Given the description of an element on the screen output the (x, y) to click on. 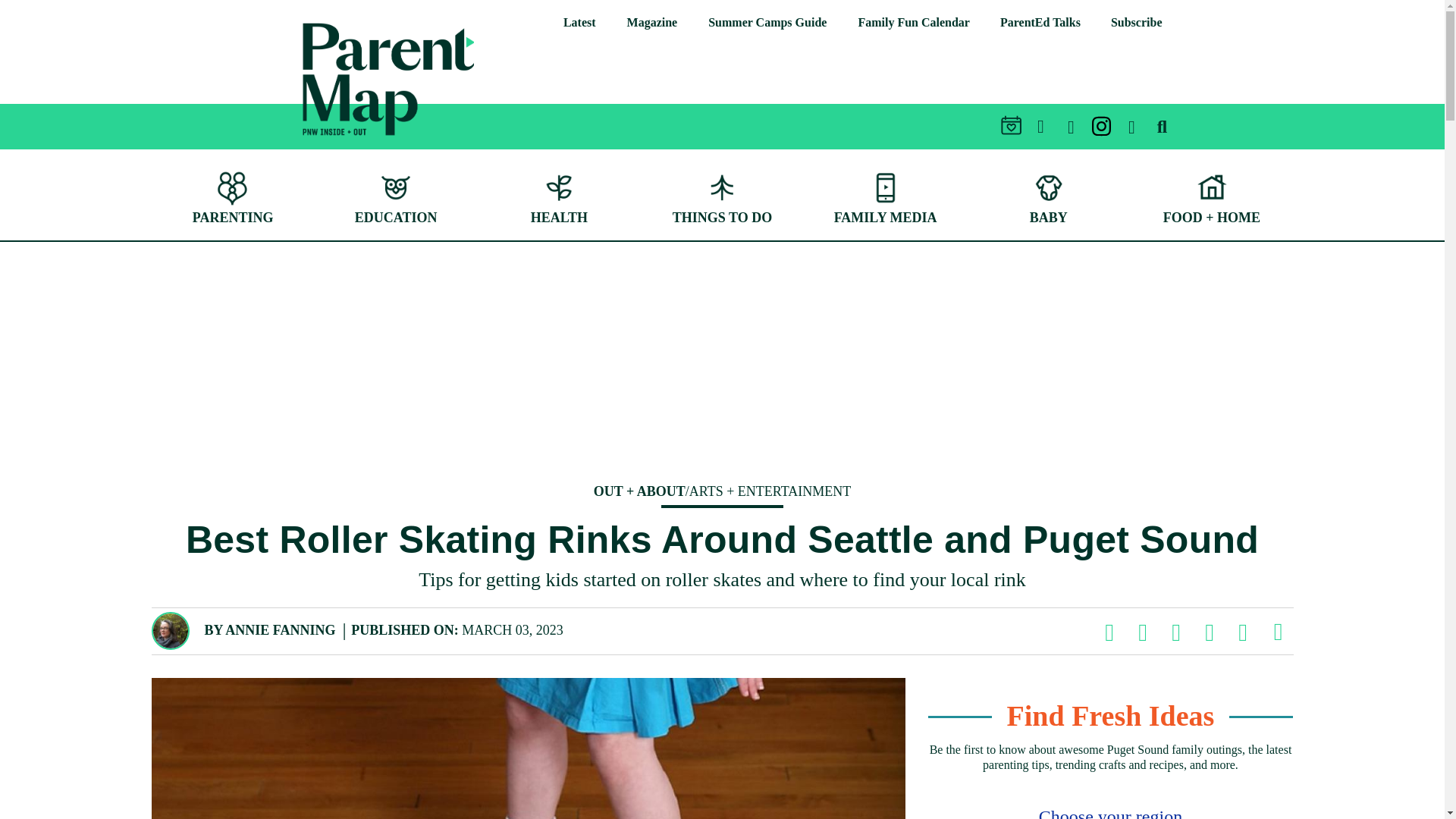
Home (388, 78)
Search (1405, 72)
Summer Camps Guide (767, 22)
Family Fun Calendar (913, 22)
Calendar (913, 22)
Annie Fanning (279, 630)
Home (312, 145)
Latest (579, 22)
ParentEd Talks (1040, 22)
Leave a comment (1277, 631)
